Given the description of an element on the screen output the (x, y) to click on. 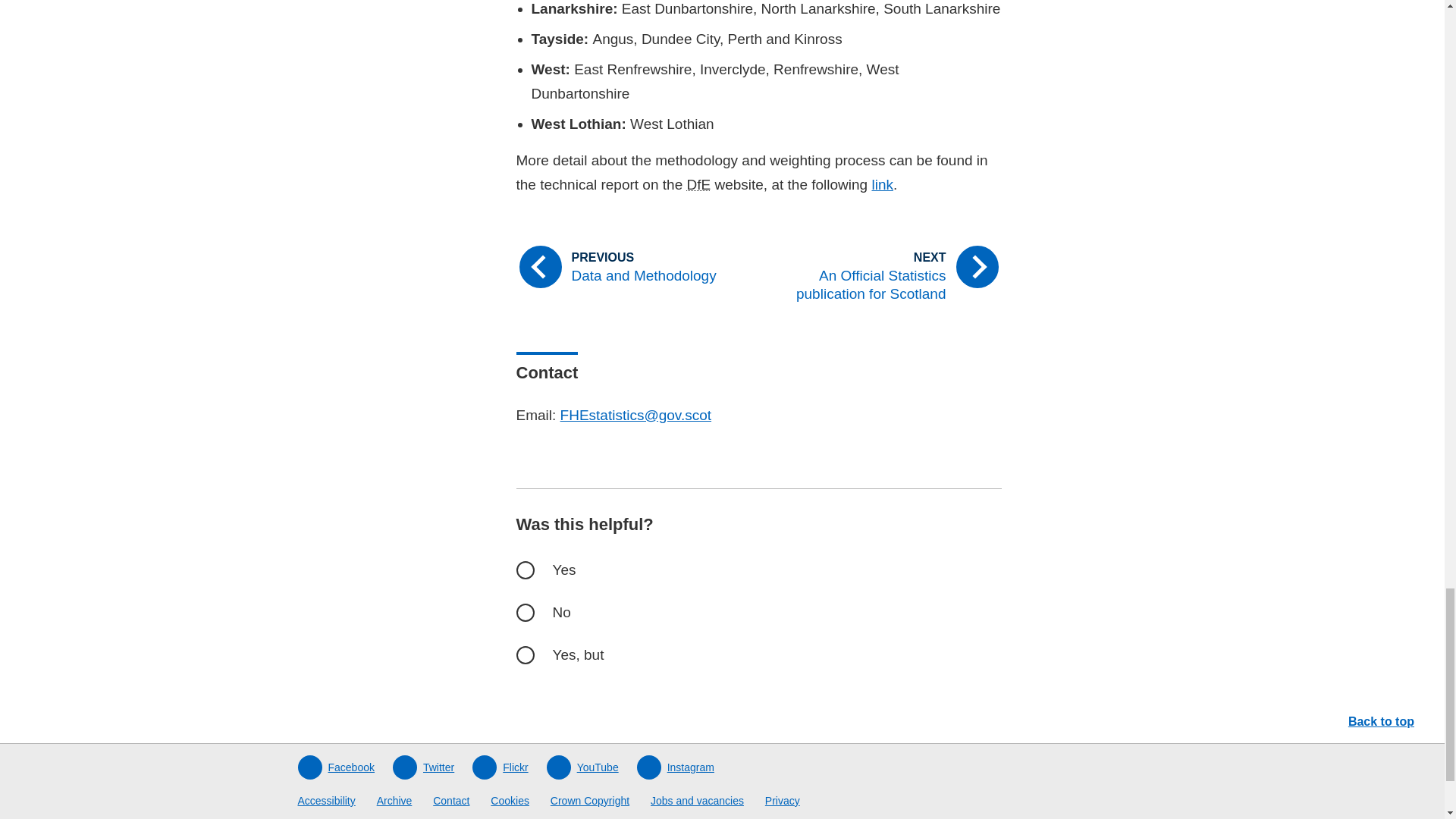
Next page (885, 275)
Instagram (675, 767)
Facebook (335, 767)
Flickr (499, 767)
Previous page (630, 266)
YouTube (582, 767)
Twitter (423, 767)
Department for Education (697, 184)
